Given the description of an element on the screen output the (x, y) to click on. 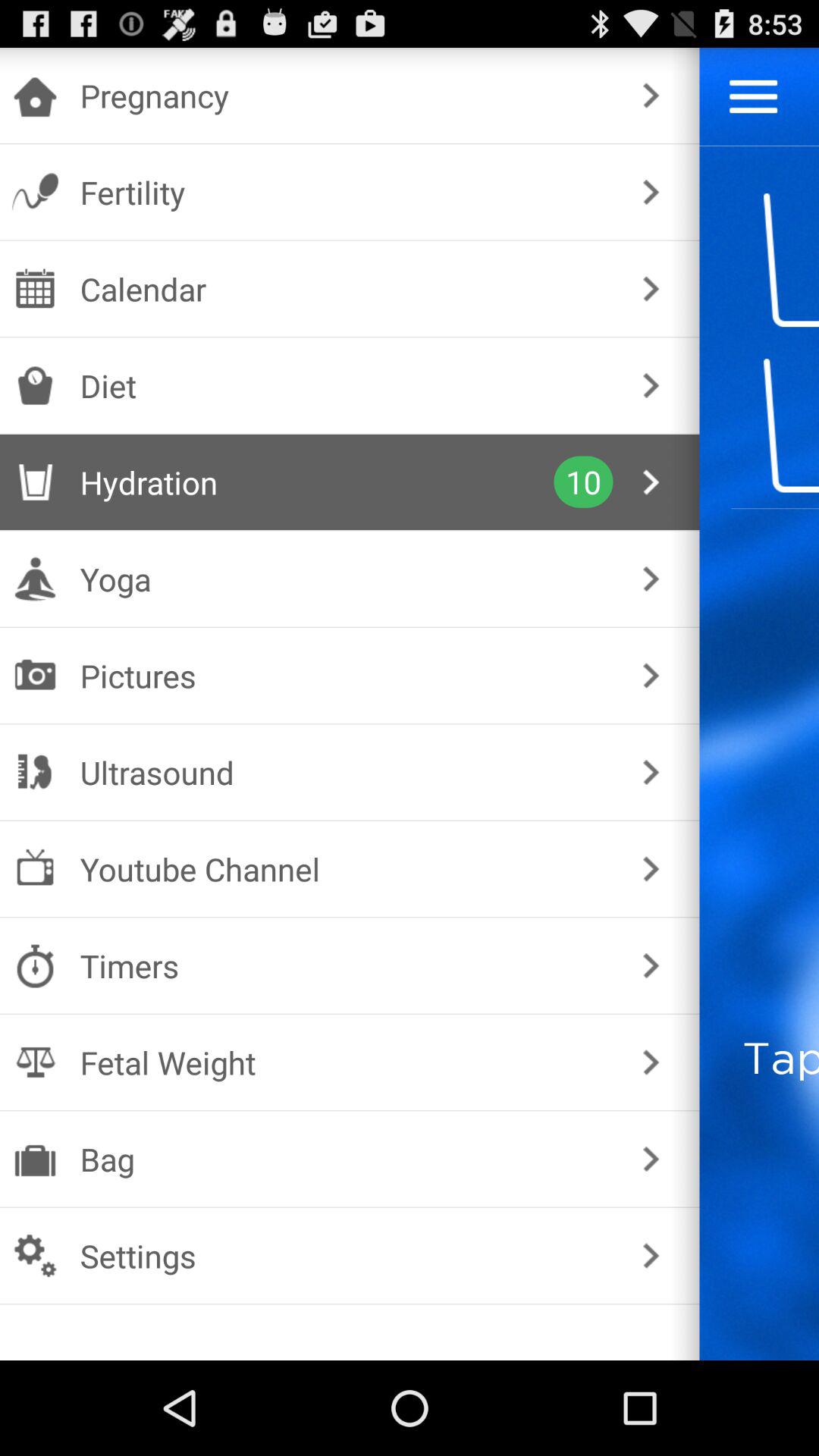
tap the icon next to the ultrasound item (651, 771)
